Given the description of an element on the screen output the (x, y) to click on. 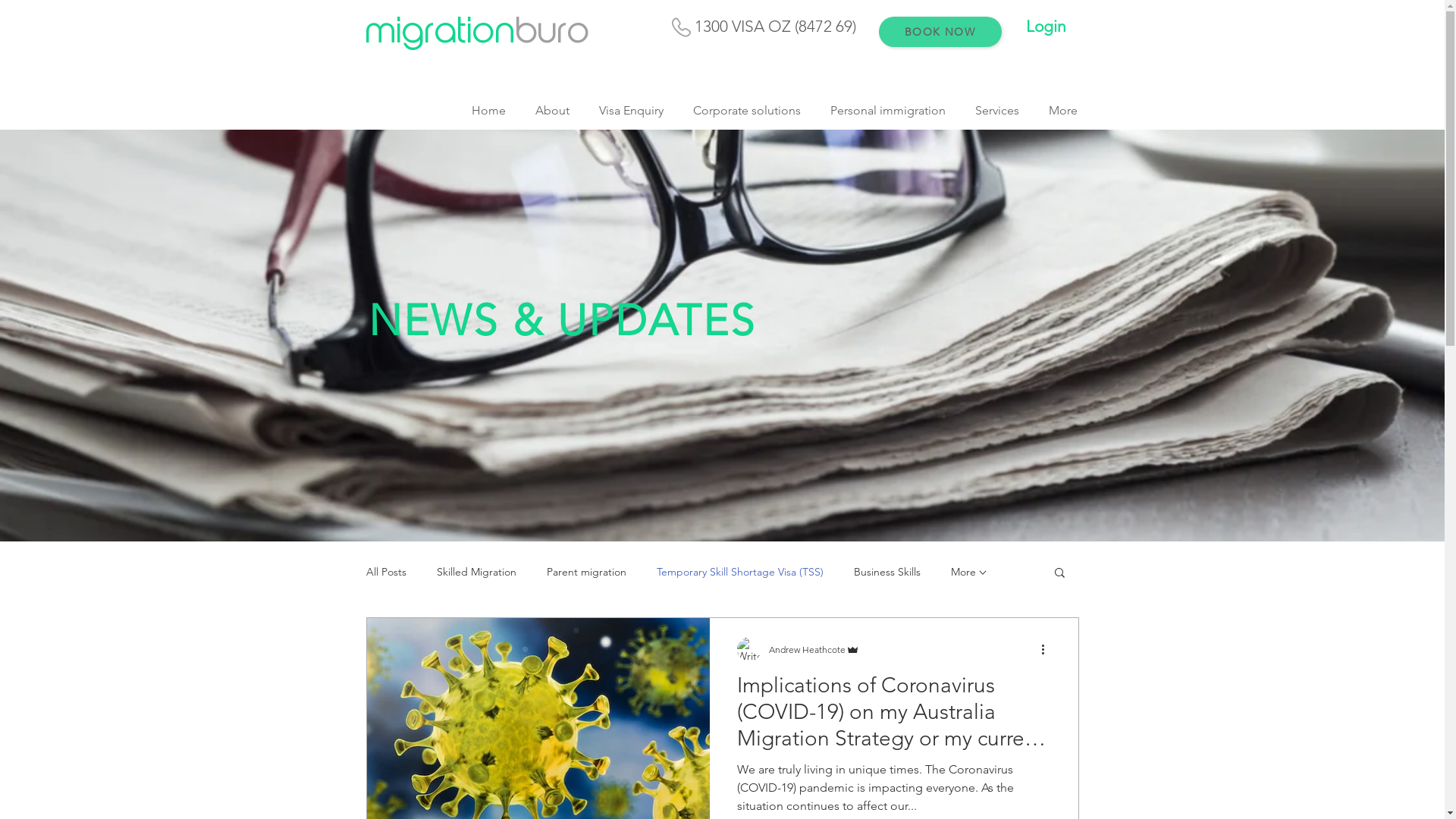
buro Element type: text (552, 32)
Services Element type: text (996, 110)
Personal immigration Element type: text (887, 110)
Visa Enquiry Element type: text (630, 110)
 1300 VISA OZ (8472 69) Element type: text (772, 25)
About Element type: text (551, 110)
migration Element type: text (440, 32)
Home Element type: text (488, 110)
Parent migration Element type: text (585, 571)
Business Skills Element type: text (886, 571)
BOOK NOW Element type: text (939, 31)
Login Element type: text (1045, 25)
Temporary Skill Shortage Visa (TSS) Element type: text (739, 571)
Corporate solutions Element type: text (746, 110)
All Posts Element type: text (385, 571)
Skilled Migration Element type: text (476, 571)
